Given the description of an element on the screen output the (x, y) to click on. 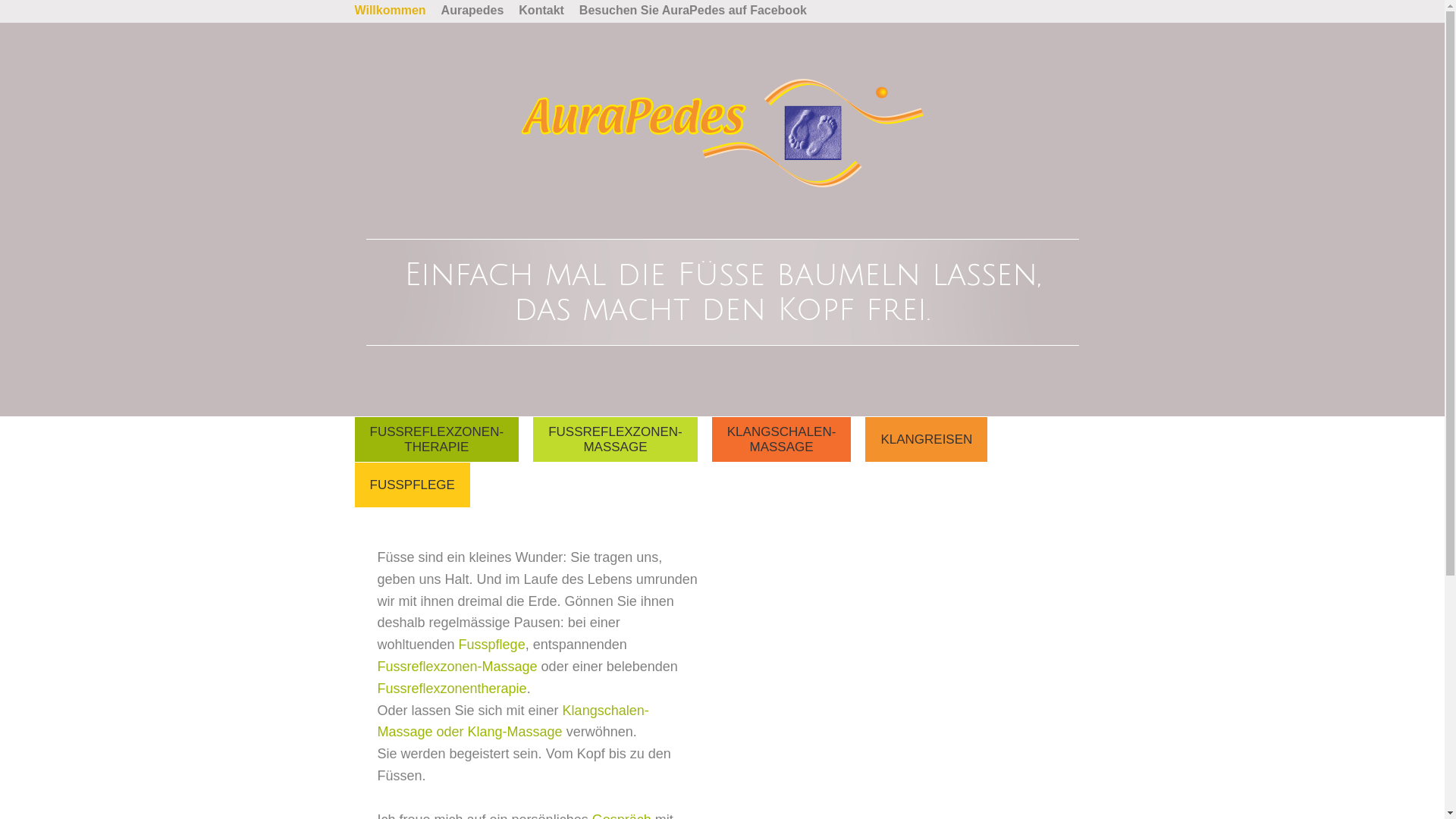
FUSSREFLEXZONEN-
THERAPIE Element type: text (436, 439)
FUSSREFLEXZONEN-
MASSAGE Element type: text (615, 439)
Fussreflexzonen-Massage Element type: text (457, 666)
Willkommen Element type: text (390, 9)
Fussreflexzonentherapie Element type: text (452, 688)
Besuchen Sie AuraPedes auf Facebook Element type: text (692, 9)
KLANGREISEN Element type: text (926, 439)
FUSSPFLEGE Element type: text (412, 484)
Aurapedes Element type: text (472, 9)
Kontakt Element type: text (541, 9)
KLANGSCHALEN-
MASSAGE Element type: text (781, 439)
Klangschalen-Massage oder Klang-Massage Element type: text (513, 721)
Fusspflege Element type: text (491, 644)
